Given the description of an element on the screen output the (x, y) to click on. 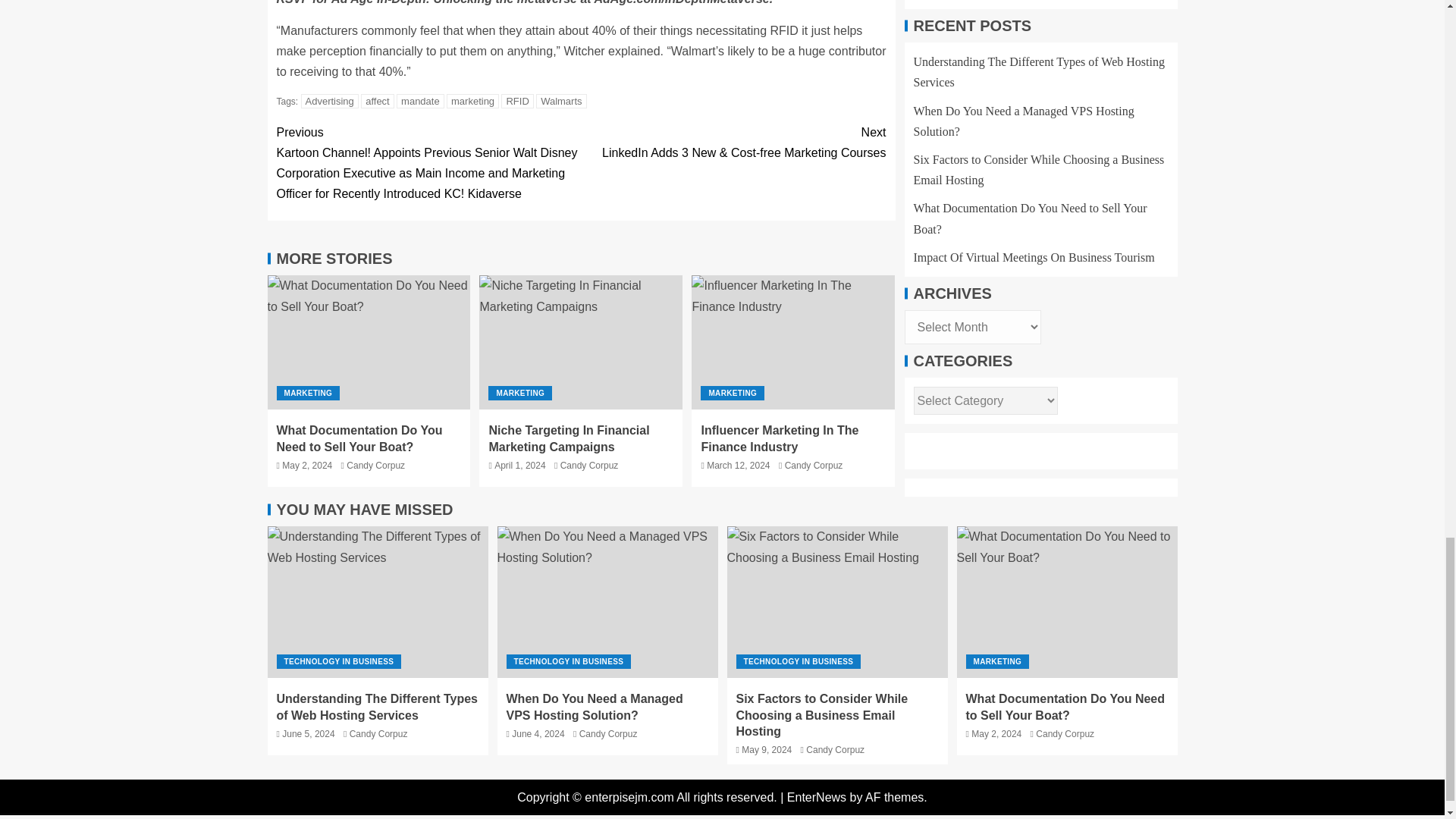
affect (377, 101)
Advertising (329, 101)
What Documentation Do You Need to Sell Your Boat? (359, 438)
What Documentation Do You Need to Sell Your Boat? (1066, 602)
MARKETING (307, 392)
Niche Targeting In Financial Marketing Campaigns (568, 438)
RFID (516, 101)
marketing (472, 101)
